Given the description of an element on the screen output the (x, y) to click on. 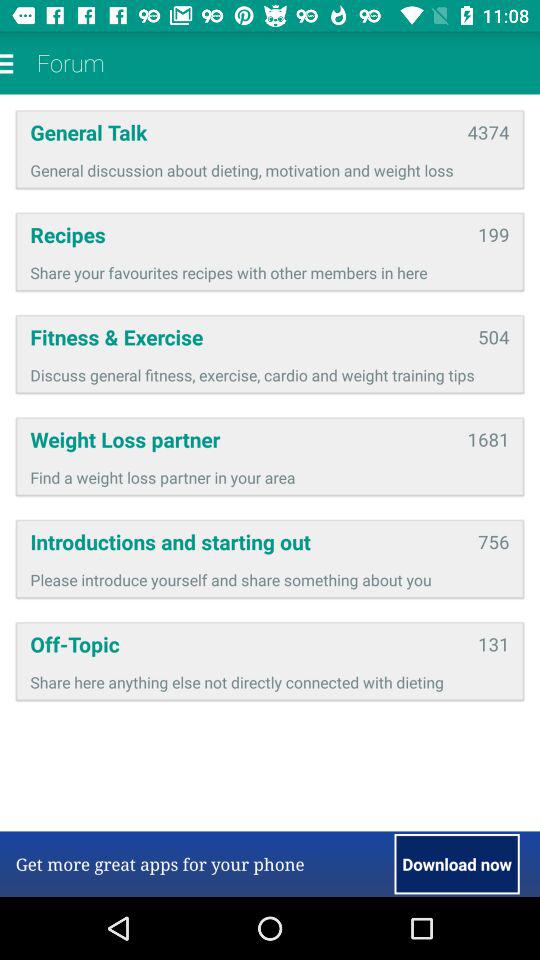
select icon above fitness & exercise (269, 272)
